Given the description of an element on the screen output the (x, y) to click on. 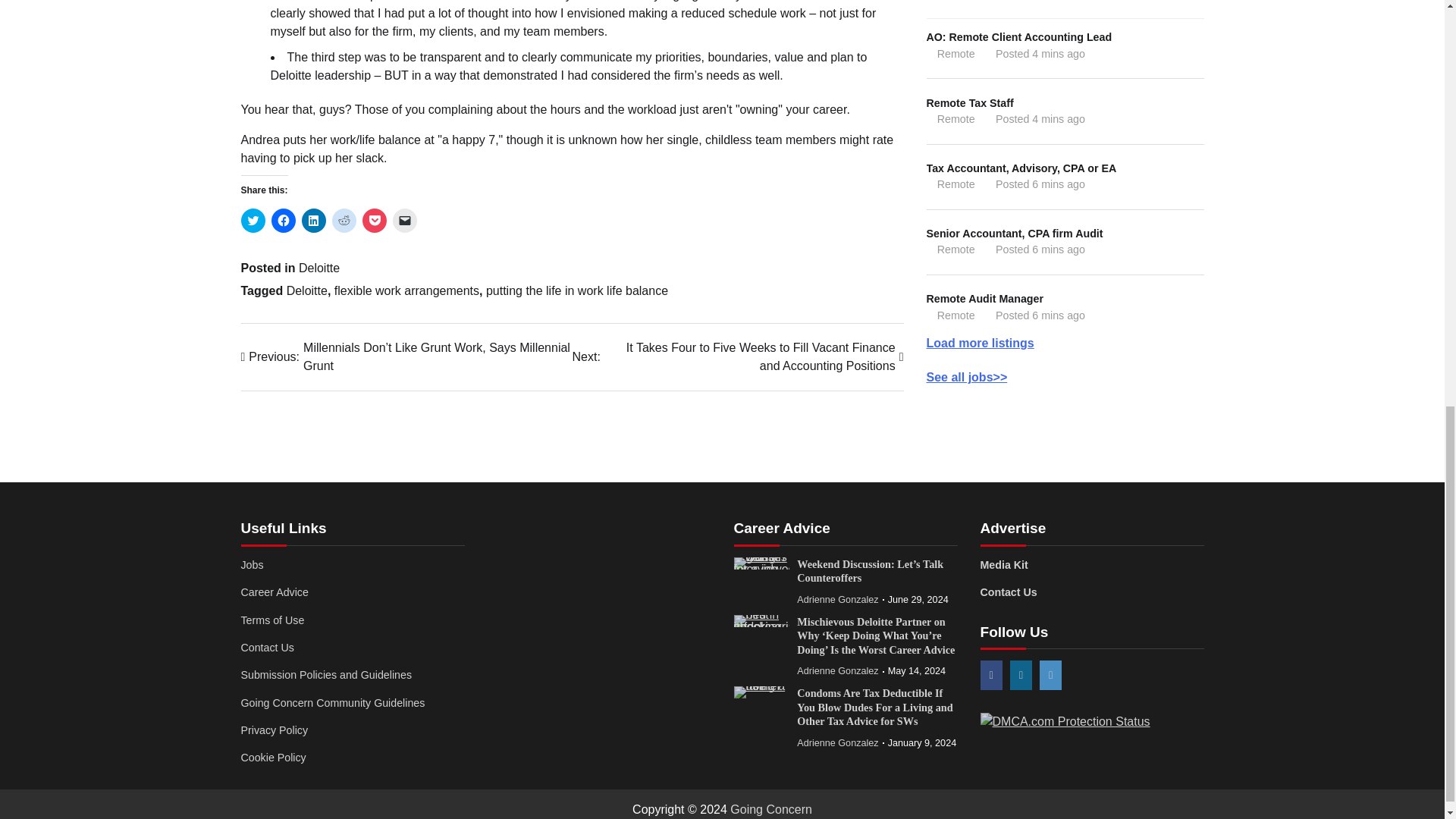
Click to share on Twitter (252, 220)
flexible work arrangements (406, 290)
Click to email a link to a friend (404, 220)
Click to share on Reddit (343, 220)
Deloitte (306, 290)
Click to share on LinkedIn (313, 220)
putting the life in work life balance (577, 290)
Click to share on Facebook (282, 220)
Click to share on Pocket (374, 220)
Deloitte (318, 267)
